Given the description of an element on the screen output the (x, y) to click on. 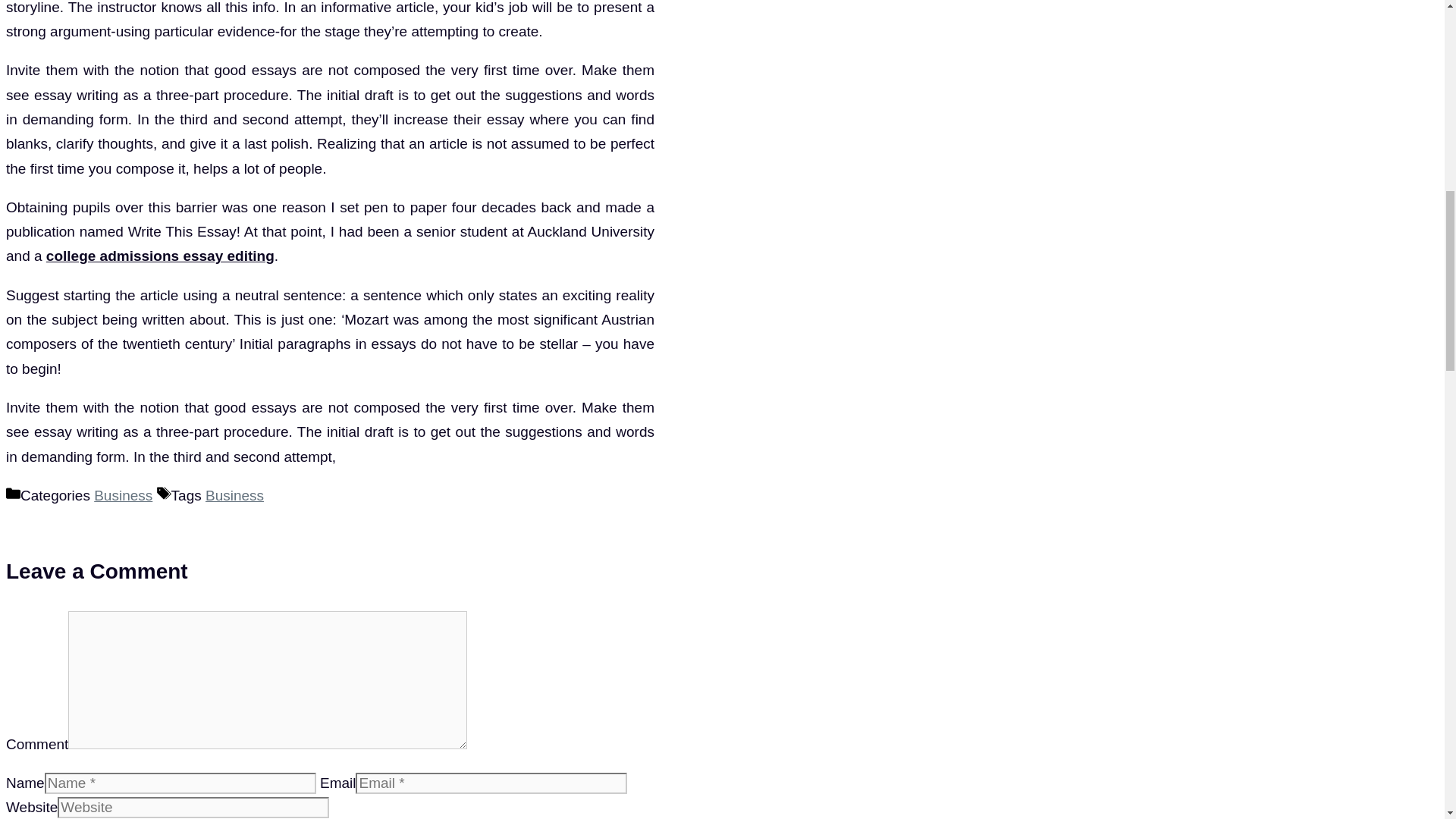
college admissions essay editing (160, 255)
Business (234, 495)
Business (123, 495)
Scroll back to top (1406, 720)
